Given the description of an element on the screen output the (x, y) to click on. 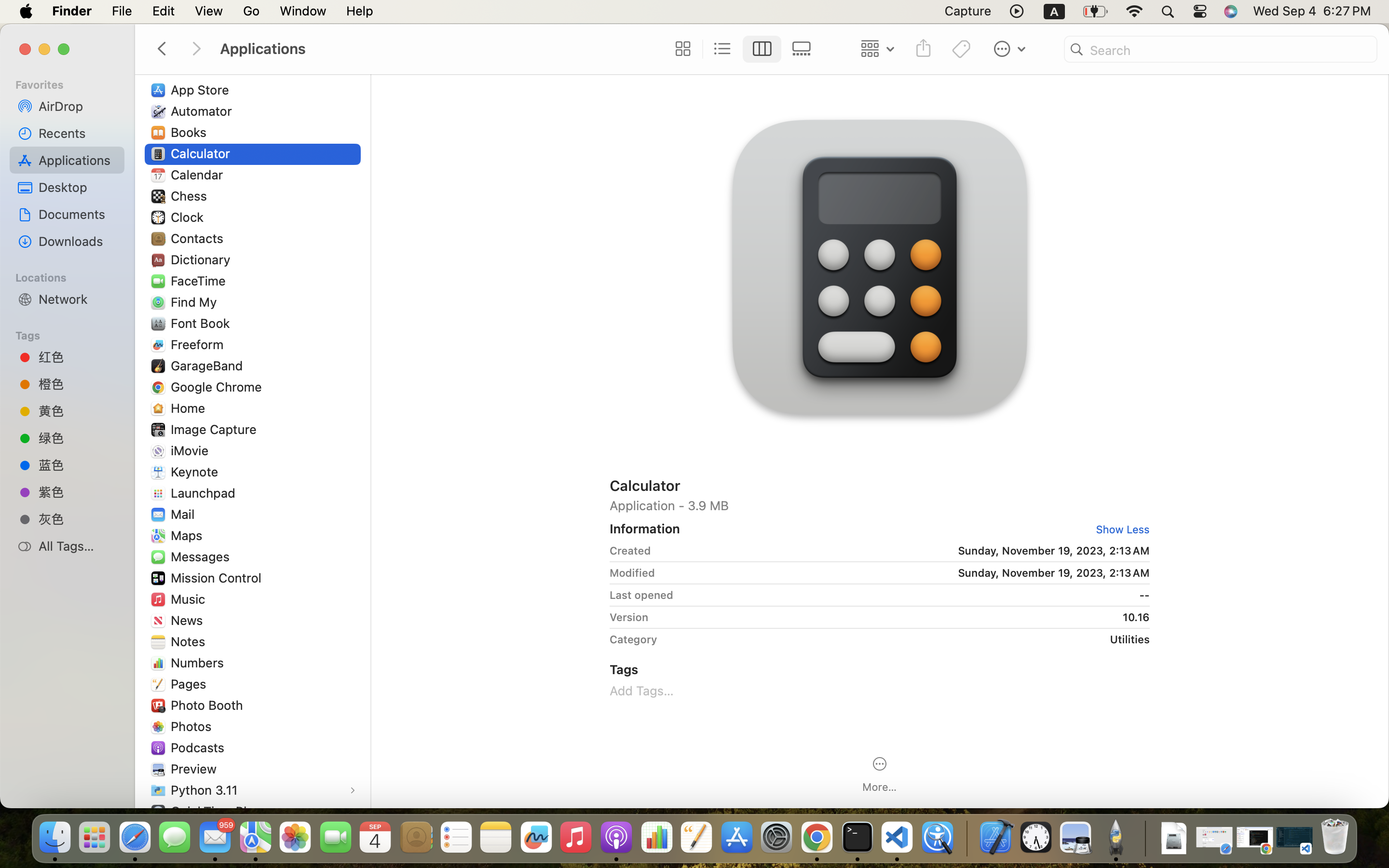
FaceTime Element type: AXTextField (200, 280)
红色 Element type: AXStaticText (77, 356)
Mission Control Element type: AXTextField (218, 577)
Documents Element type: AXStaticText (77, 213)
Python 3.11 Element type: AXTextField (206, 789)
